Given the description of an element on the screen output the (x, y) to click on. 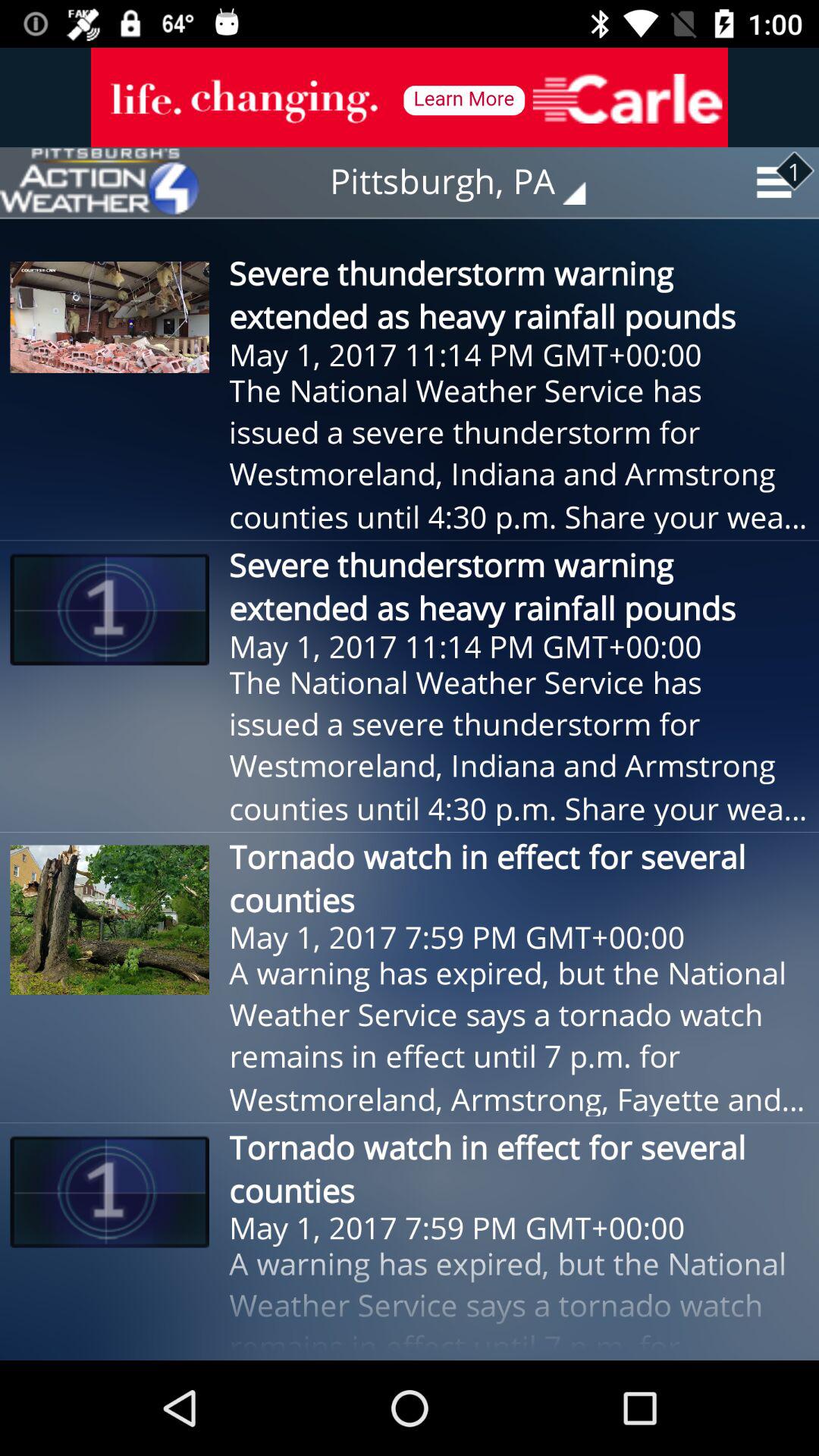
choose item above pittsburgh, pa (409, 97)
